Given the description of an element on the screen output the (x, y) to click on. 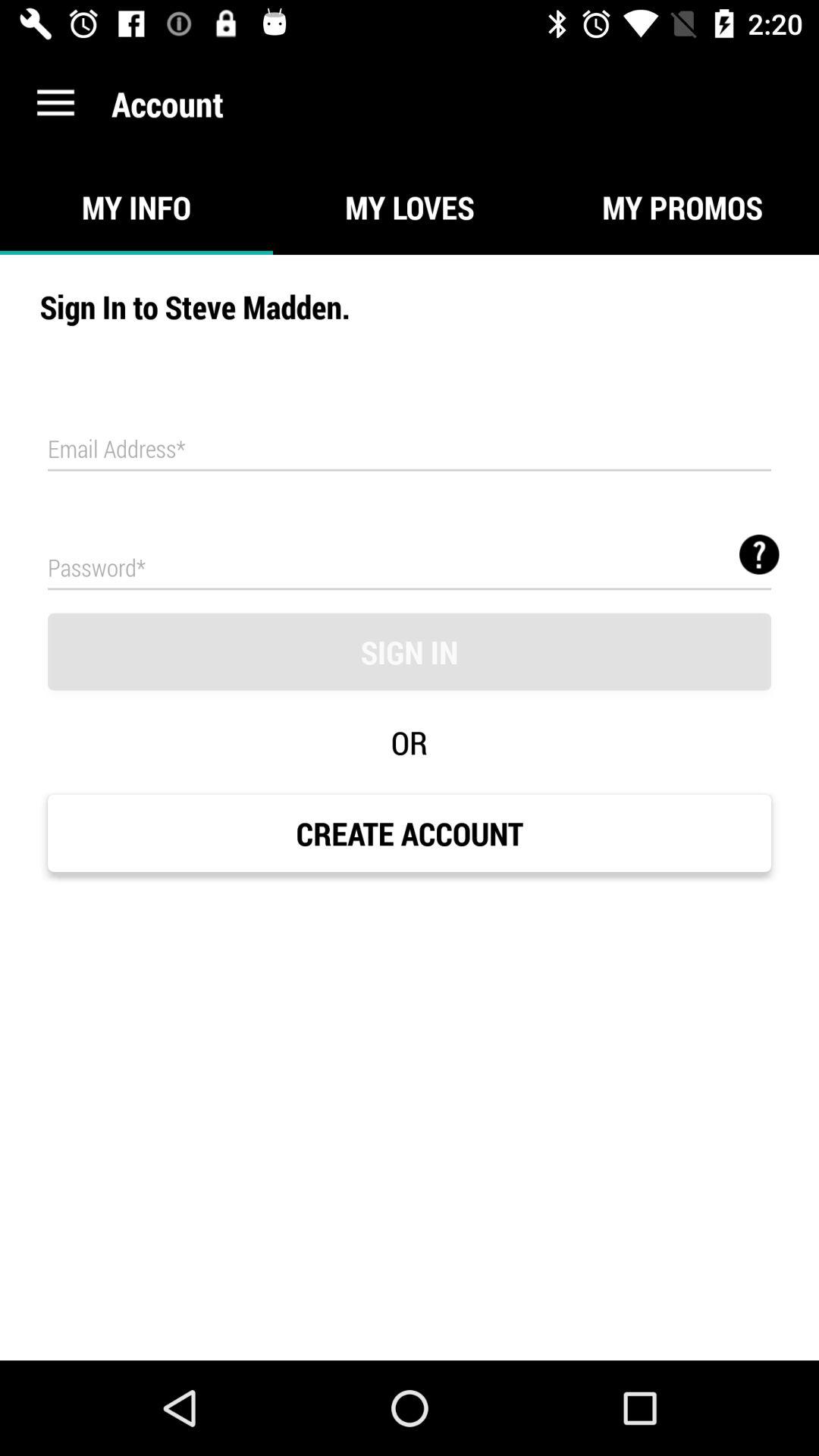
info button (759, 554)
